Given the description of an element on the screen output the (x, y) to click on. 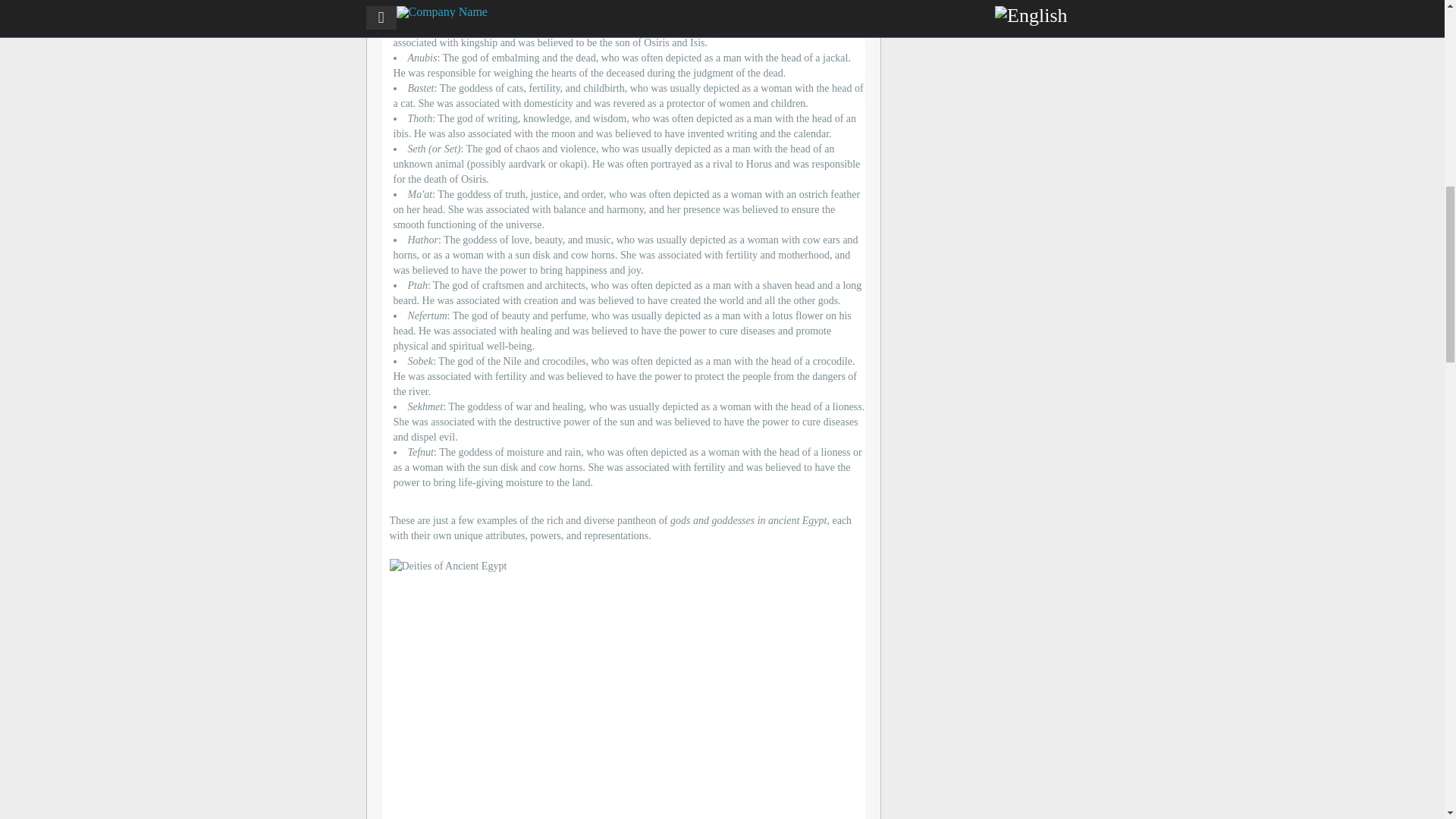
Ancient Egyptian Gods and Goddesses (623, 688)
